Given the description of an element on the screen output the (x, y) to click on. 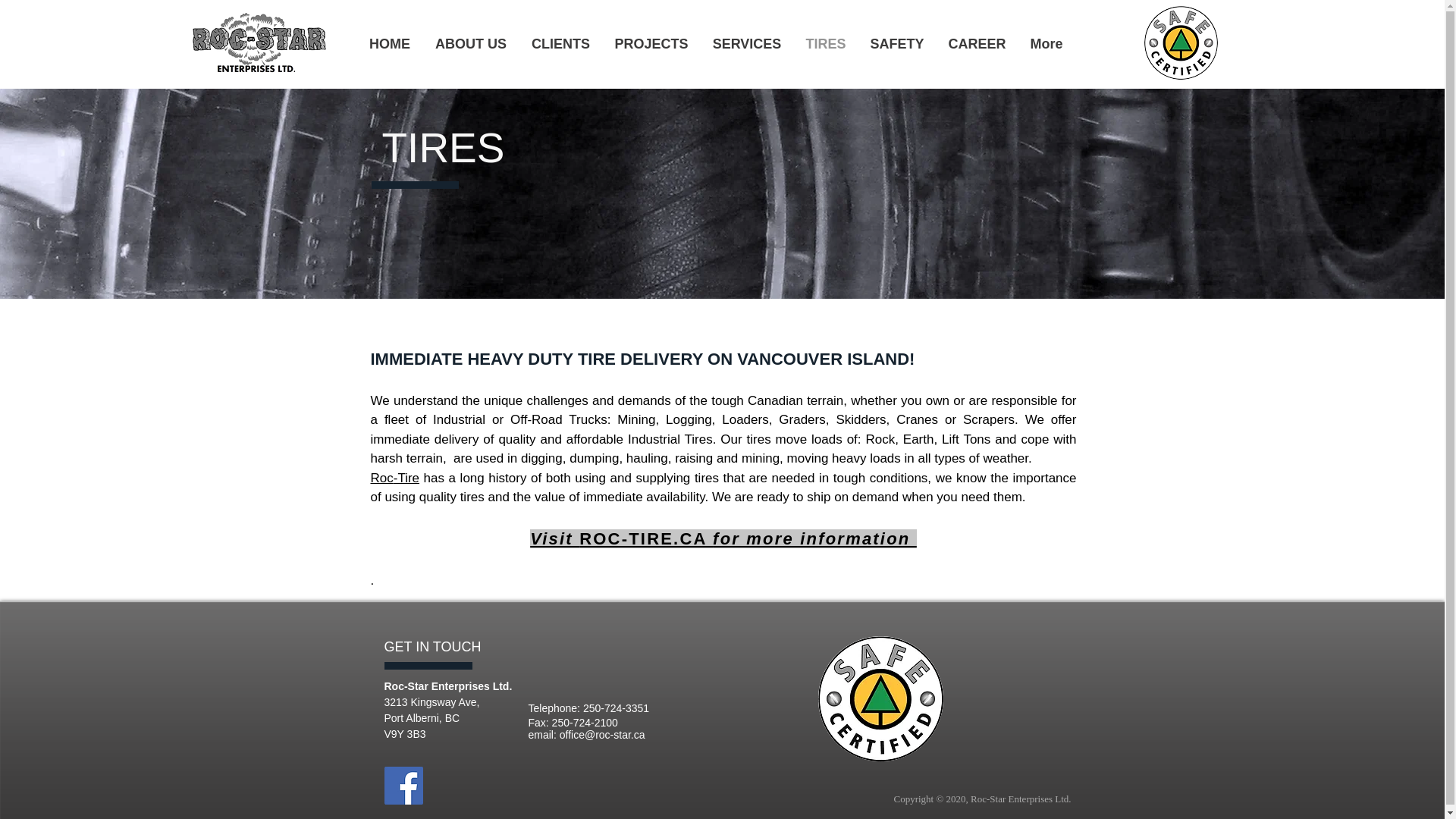
HOME (389, 44)
Visit ROC-TIRE.CA for more information  (723, 538)
TIRES (825, 44)
CLIENTS (560, 44)
PROJECTS (651, 44)
SAFETY (897, 44)
ABOUT US (471, 44)
Roc (381, 477)
CAREER (976, 44)
SERVICES (746, 44)
